Given the description of an element on the screen output the (x, y) to click on. 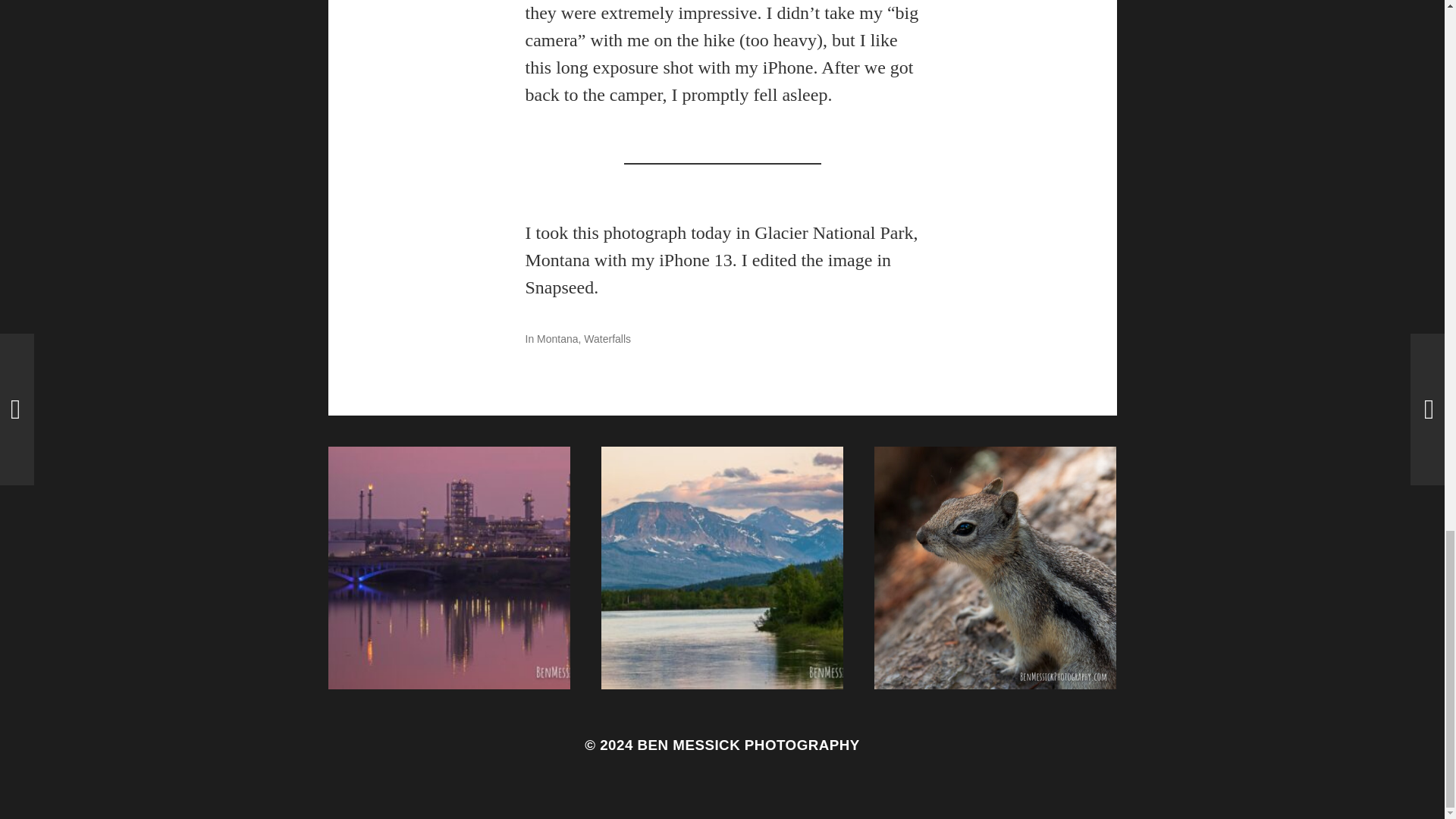
BEN MESSICK PHOTOGRAPHY (748, 744)
Montana (557, 338)
Waterfalls (606, 338)
